Given the description of an element on the screen output the (x, y) to click on. 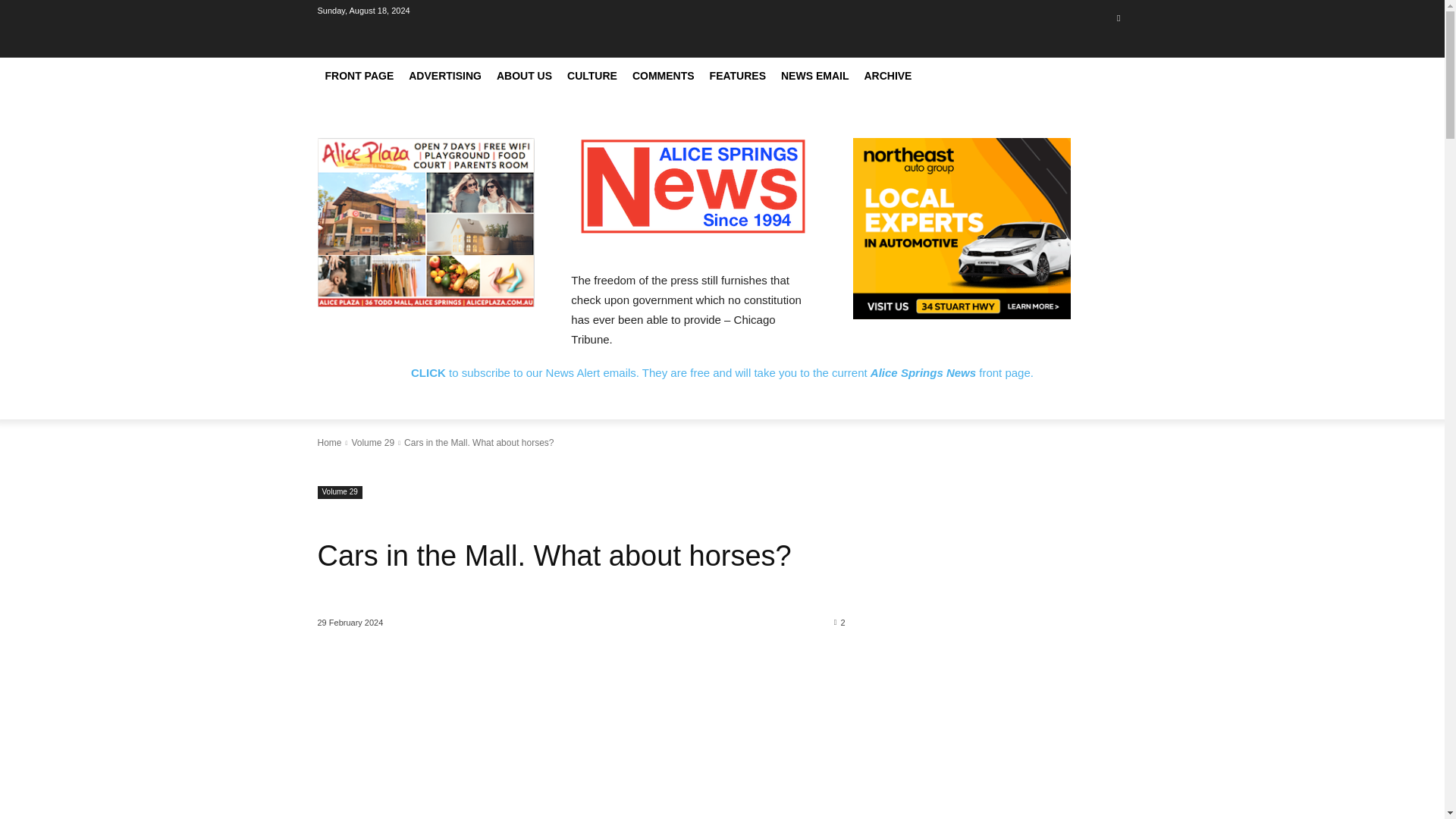
View all posts in Volume 29 (372, 442)
ADVERTISING (445, 75)
FEATURES (737, 75)
ABOUT US (524, 75)
Facebook (1117, 17)
COMMENTS (662, 75)
ARCHIVE (887, 75)
CULTURE (591, 75)
Home (328, 442)
FRONT PAGE (359, 75)
